Given the description of an element on the screen output the (x, y) to click on. 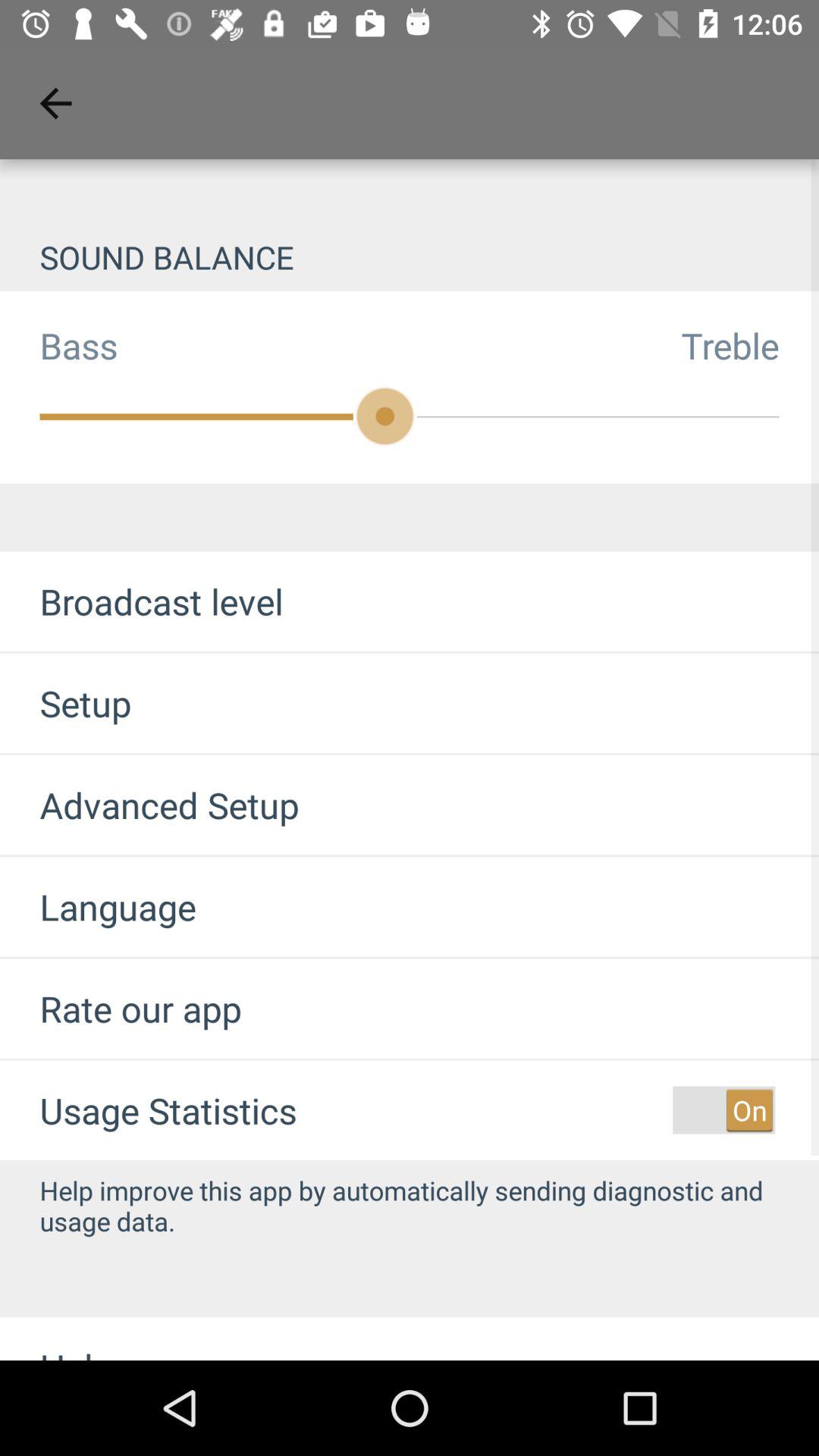
turn off icon above the usage statistics item (120, 1008)
